Given the description of an element on the screen output the (x, y) to click on. 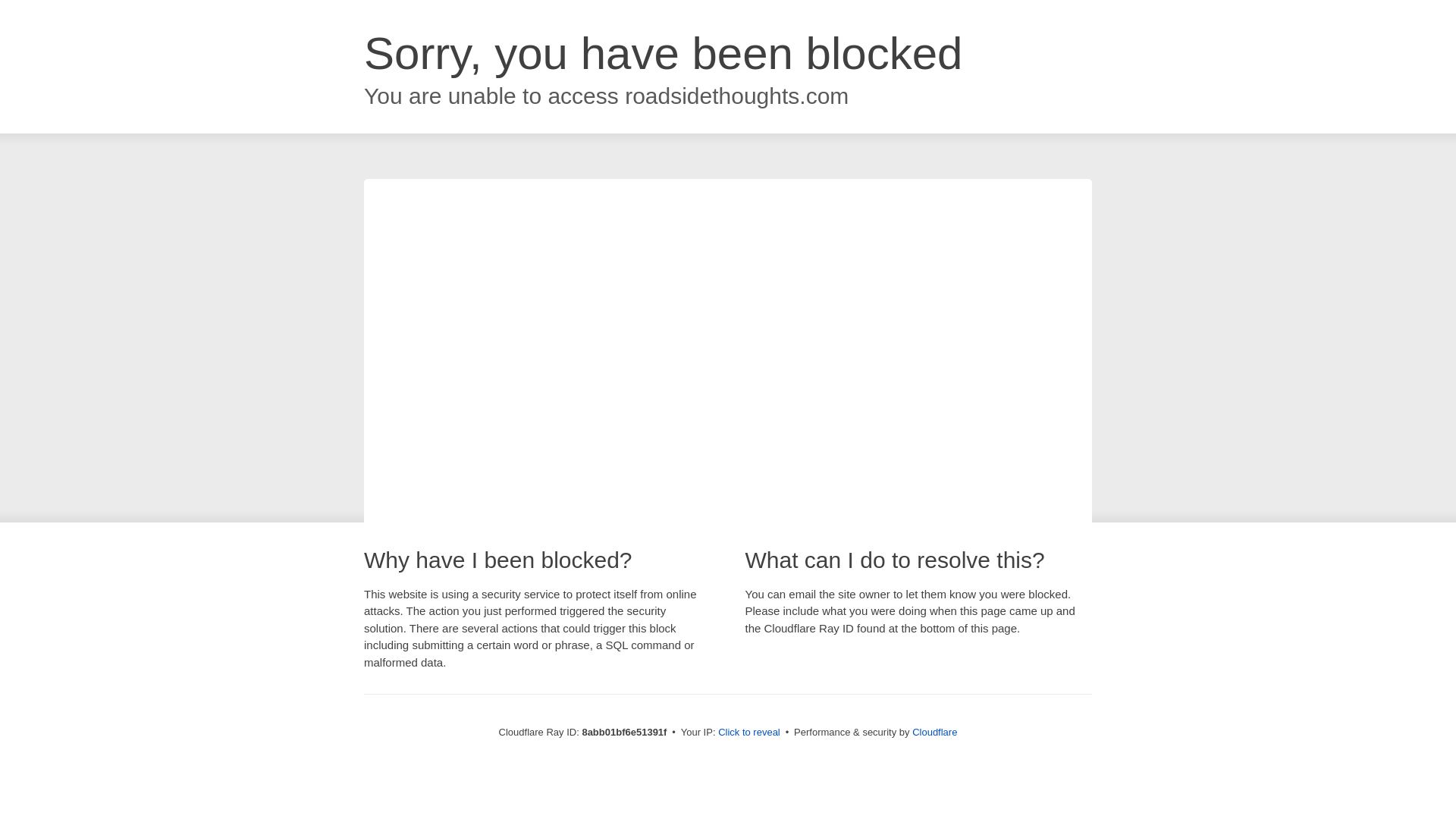
Click to reveal (748, 732)
Cloudflare (934, 731)
